Given the description of an element on the screen output the (x, y) to click on. 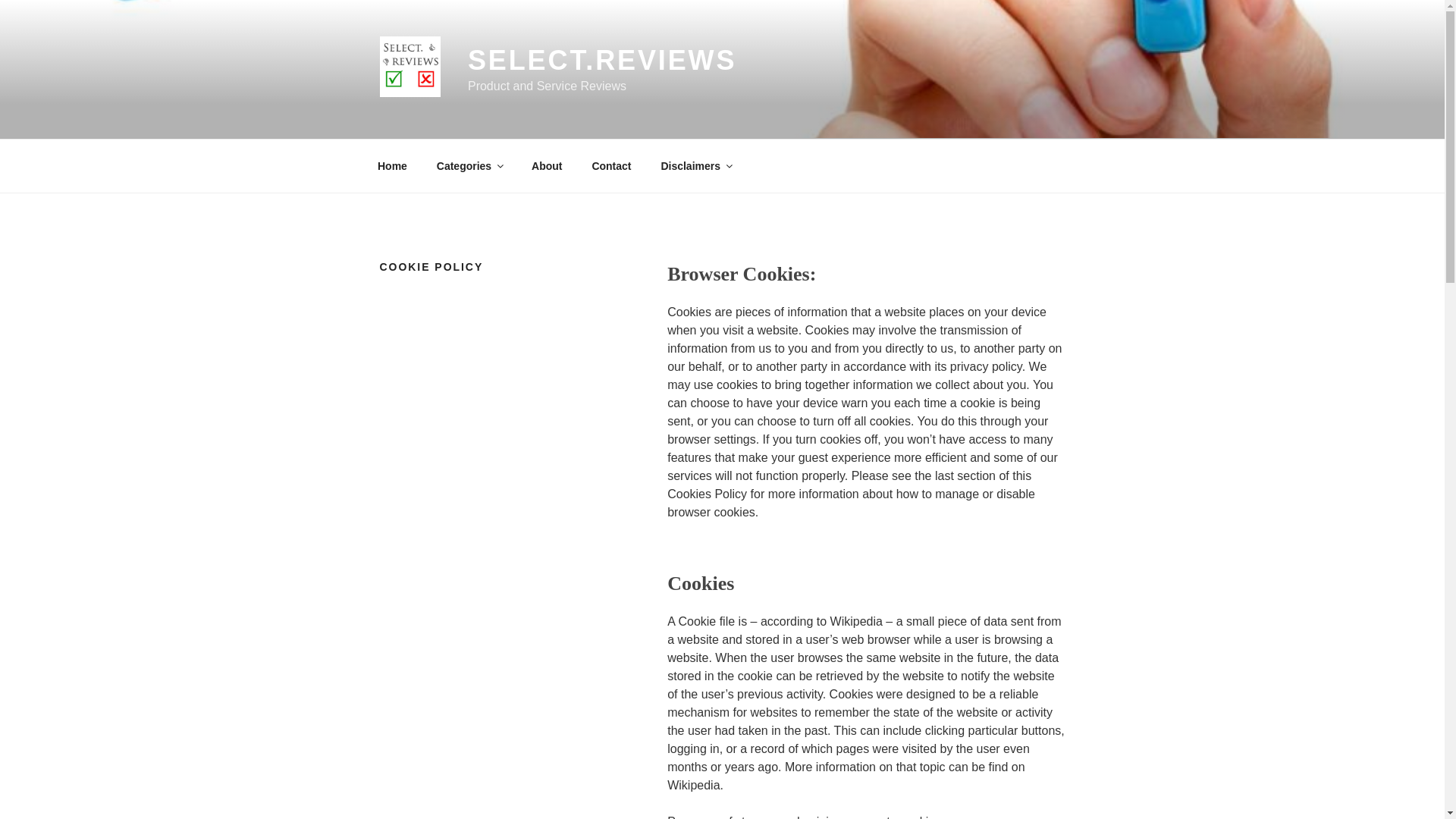
About (546, 165)
Disclaimers (695, 165)
Contact (611, 165)
Home (392, 165)
SELECT.REVIEWS (601, 60)
Categories (469, 165)
